Given the description of an element on the screen output the (x, y) to click on. 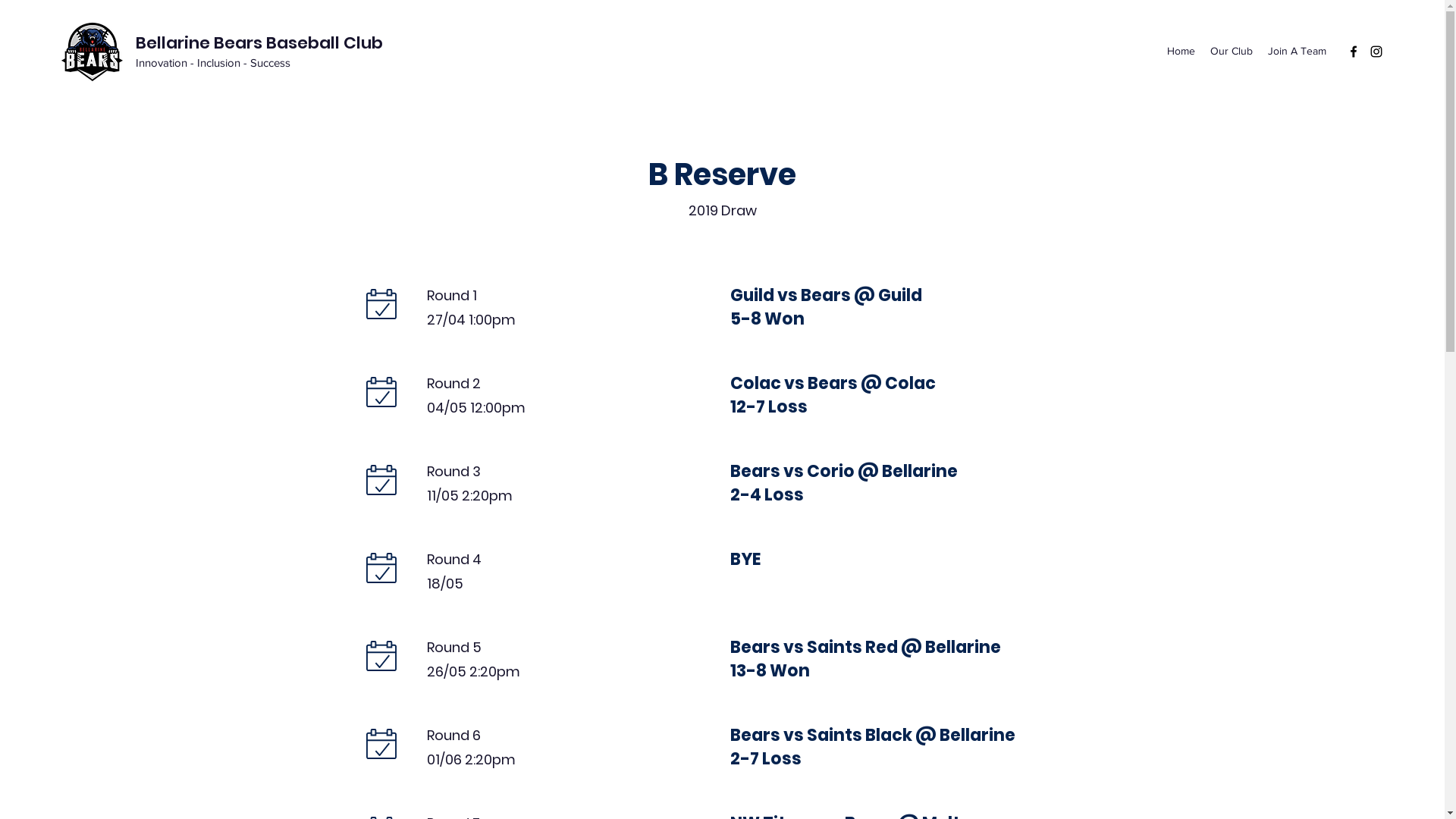
Bellarine Bears Baseball Club Element type: text (258, 42)
Join A Team Element type: text (1296, 51)
Home Element type: text (1180, 51)
Our Club Element type: text (1231, 51)
